Given the description of an element on the screen output the (x, y) to click on. 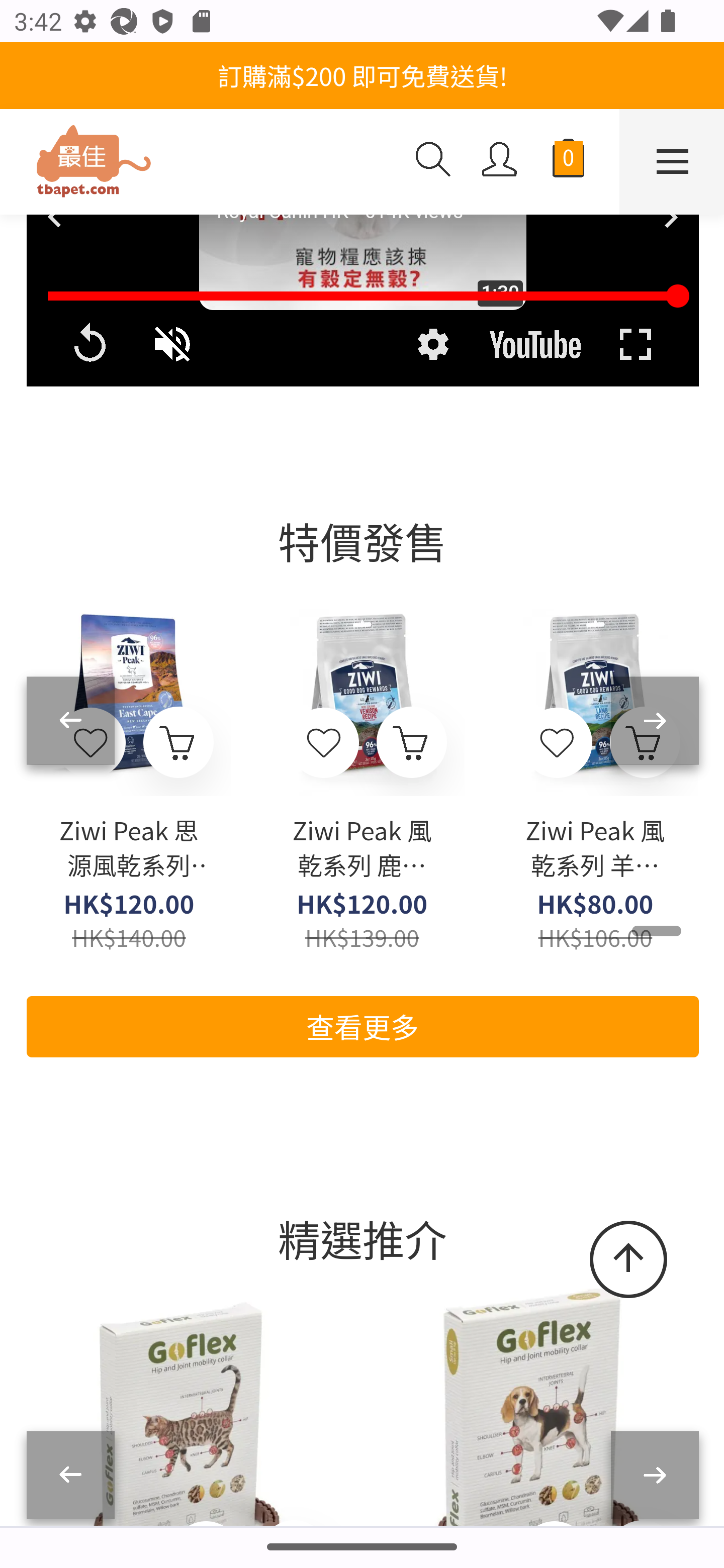
450x (200, 162)
sign_in (499, 161)
0 (567, 162)
Replay (89, 344)
Unmute (173, 344)
Settings (432, 344)
Watch on YouTube (534, 344)
Full screen (635, 344)
 (324, 744)
 (556, 744)
查看更多 (362, 1026)
